Given the description of an element on the screen output the (x, y) to click on. 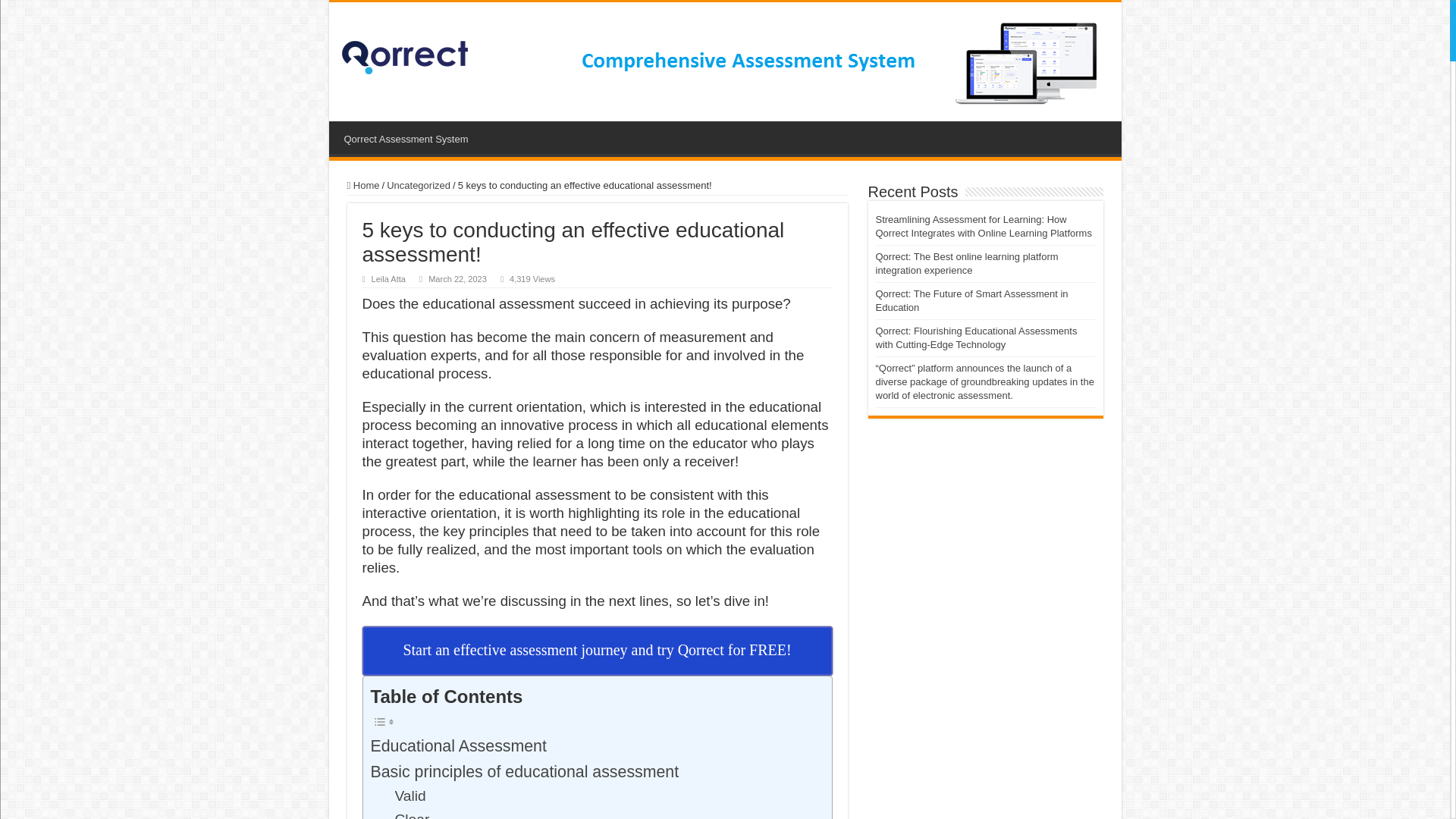
Valid (409, 796)
Educational Assessment (457, 746)
Basic principles of educational assessment (523, 771)
Qorrect Assessment System (406, 137)
Basic principles of educational assessment (523, 771)
Valid (409, 796)
Uncategorized (418, 184)
Educational Assessment (457, 746)
Leila Atta (388, 278)
